Given the description of an element on the screen output the (x, y) to click on. 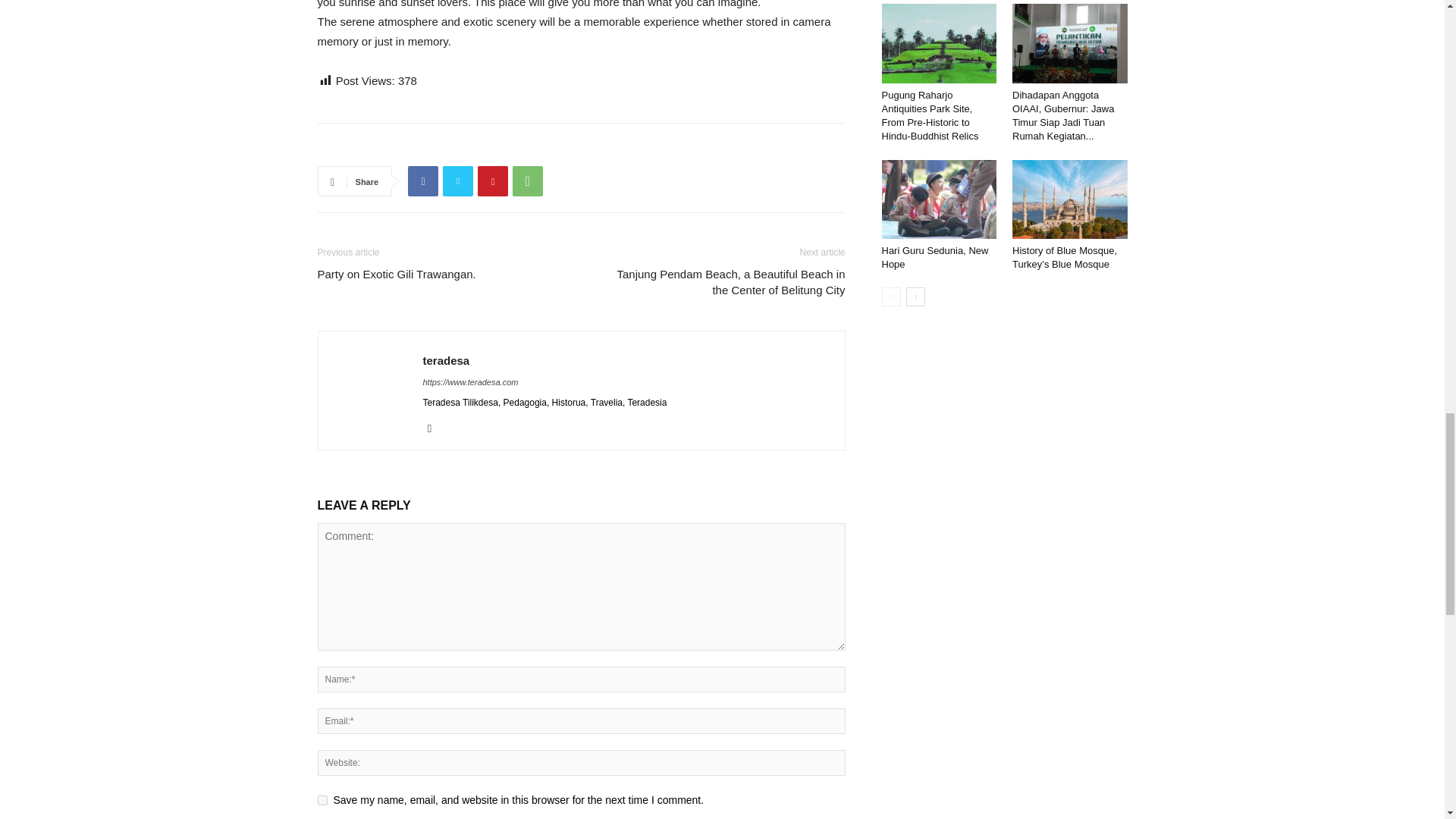
yes (321, 800)
